Given the description of an element on the screen output the (x, y) to click on. 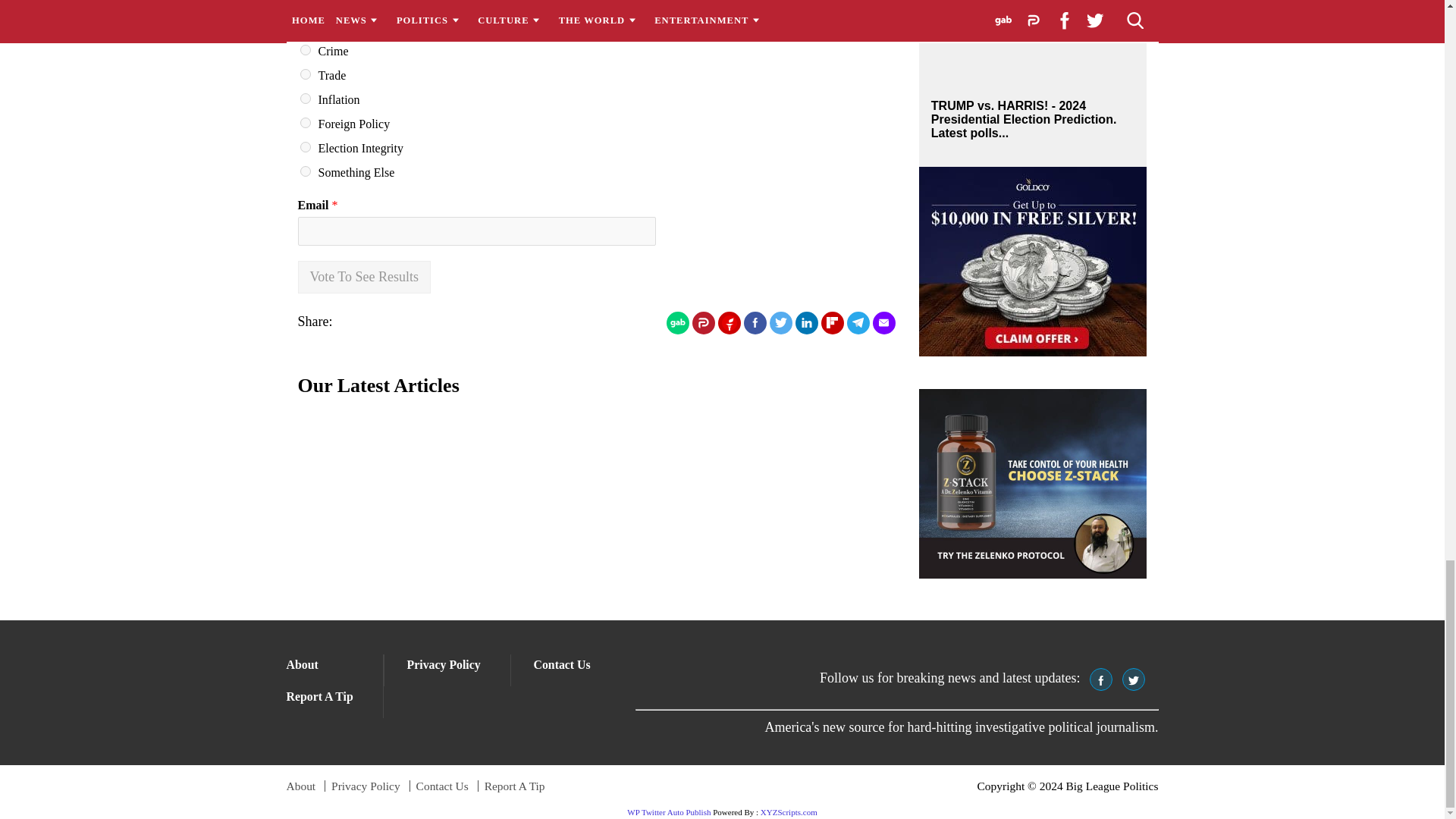
Trade (305, 73)
Foreign Policy  (305, 122)
Border Security  (305, 3)
Something Else (305, 171)
Follow us on Twitter (1133, 679)
Inflation (305, 98)
Immigration (305, 25)
Election Integrity  (305, 146)
WP Twitter Auto Publish (668, 811)
Follow us on Facebook (1100, 679)
